Given the description of an element on the screen output the (x, y) to click on. 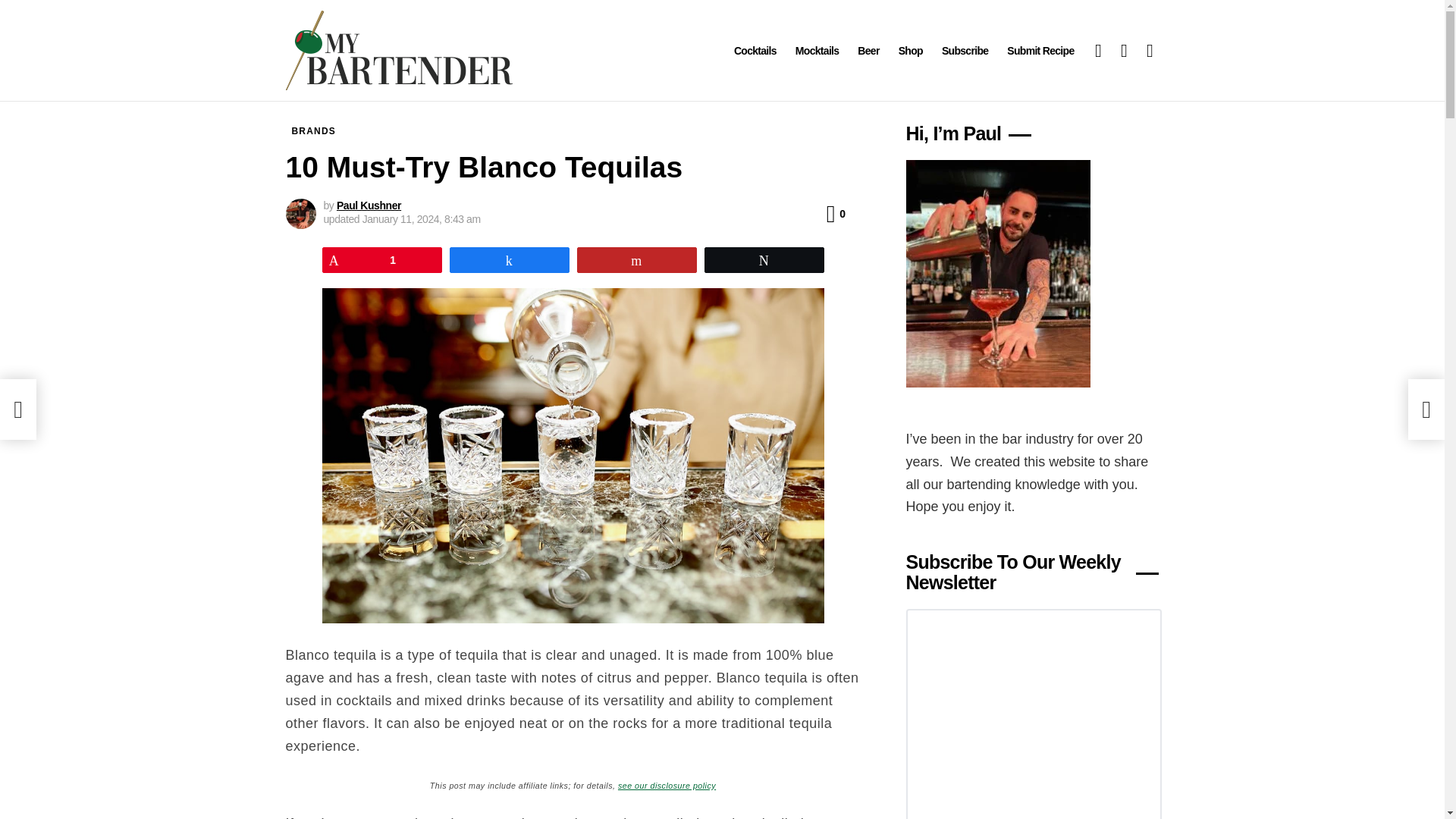
Beer (868, 50)
Mocktails (817, 50)
Cocktails (755, 50)
Shop (910, 50)
Paul Kushner (368, 205)
Subscribe (964, 50)
Posts by Paul Kushner (368, 205)
see our disclosure policy (666, 783)
Submit Recipe (1039, 50)
BRANDS (313, 130)
1 (382, 259)
